Given the description of an element on the screen output the (x, y) to click on. 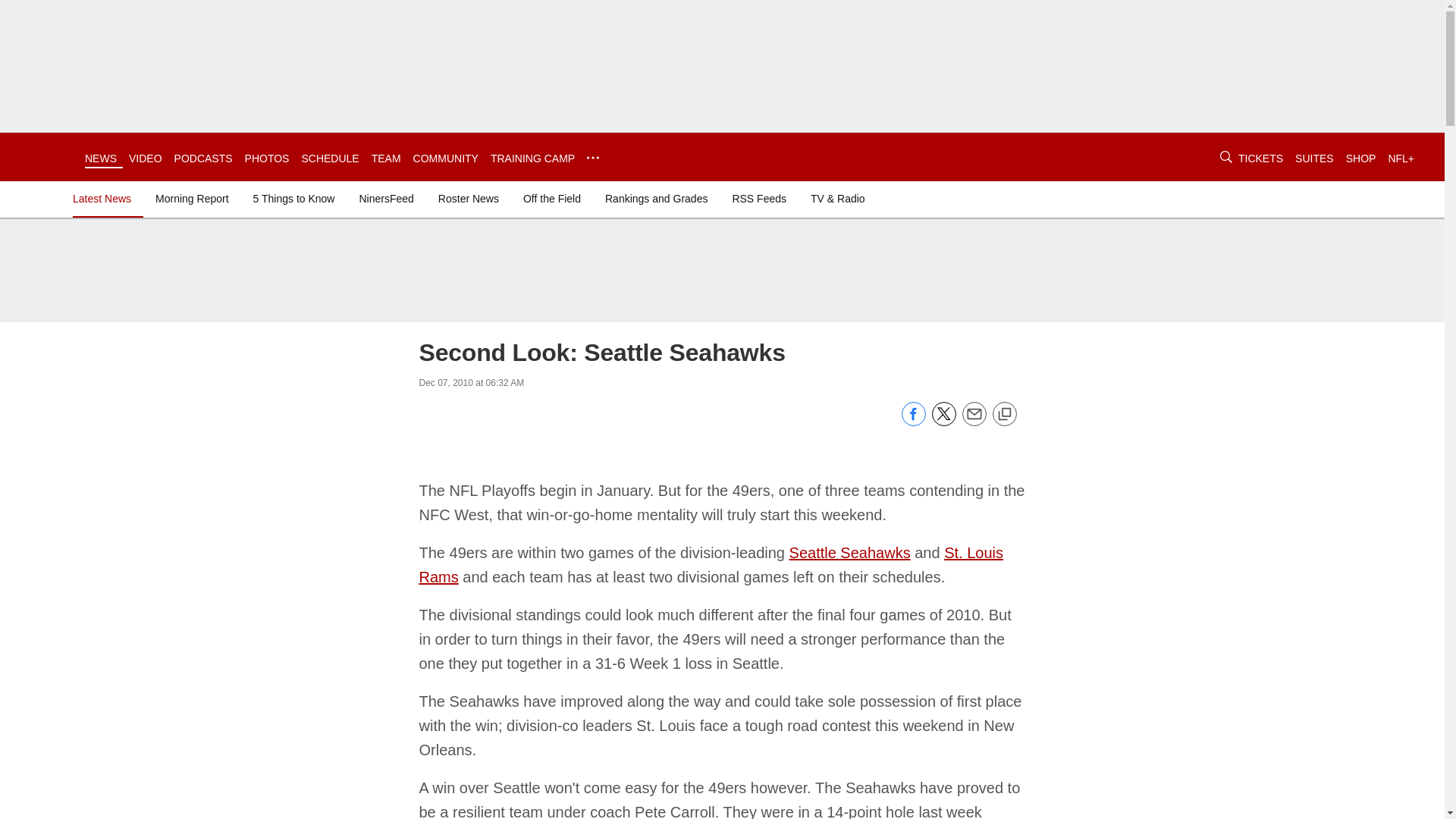
Link to club's homepage (42, 156)
PODCASTS (203, 158)
RSS Feeds (758, 198)
PODCASTS (203, 158)
COMMUNITY (446, 158)
... (592, 157)
TEAM (386, 158)
TEAM (386, 158)
TRAINING CAMP (532, 158)
SCHEDULE (329, 158)
Rankings and Grades (655, 198)
Roster News (468, 198)
TICKETS (1260, 158)
NEWS (100, 158)
VIDEO (145, 158)
